Given the description of an element on the screen output the (x, y) to click on. 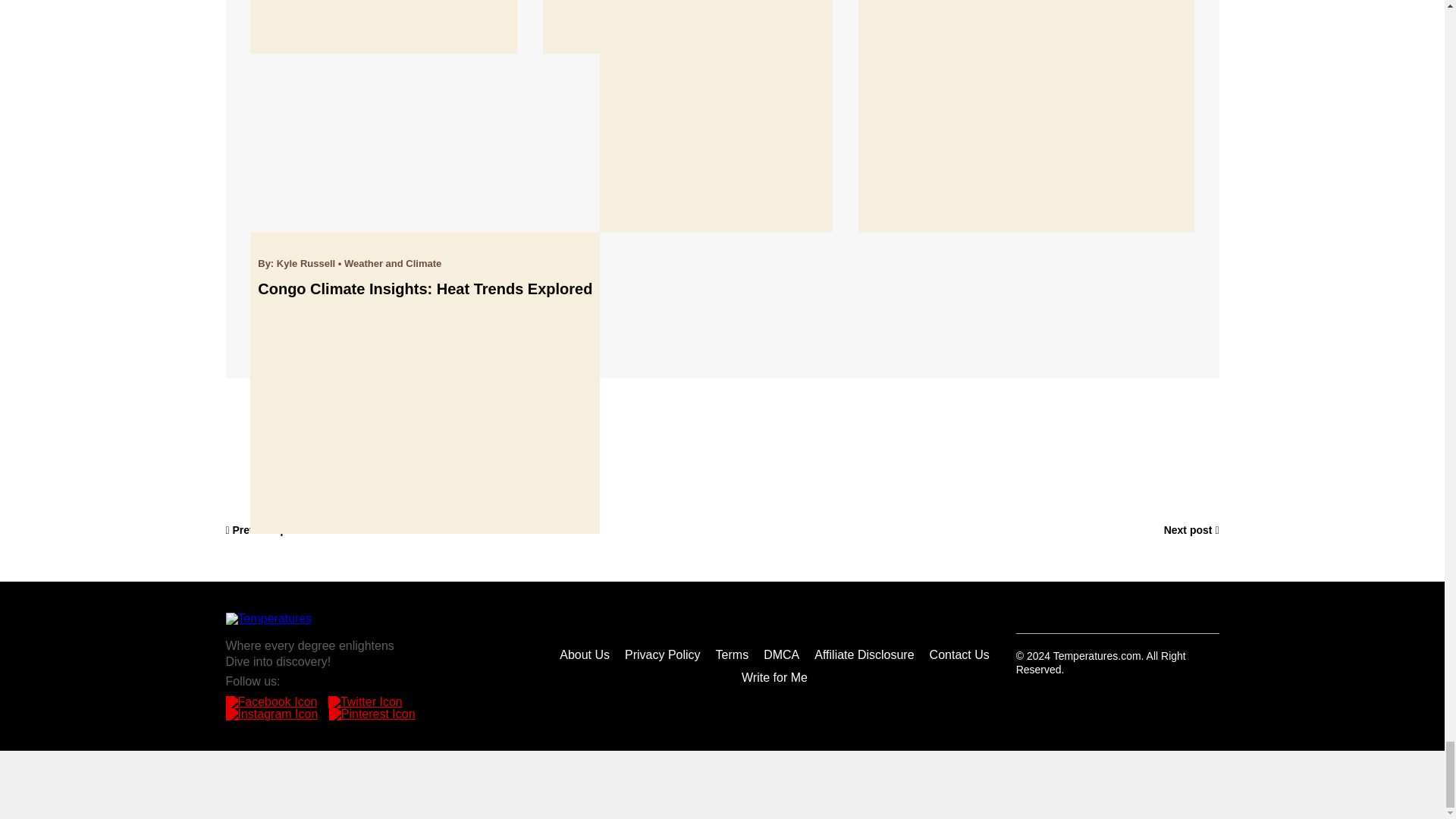
temperatures (269, 618)
